Given the description of an element on the screen output the (x, y) to click on. 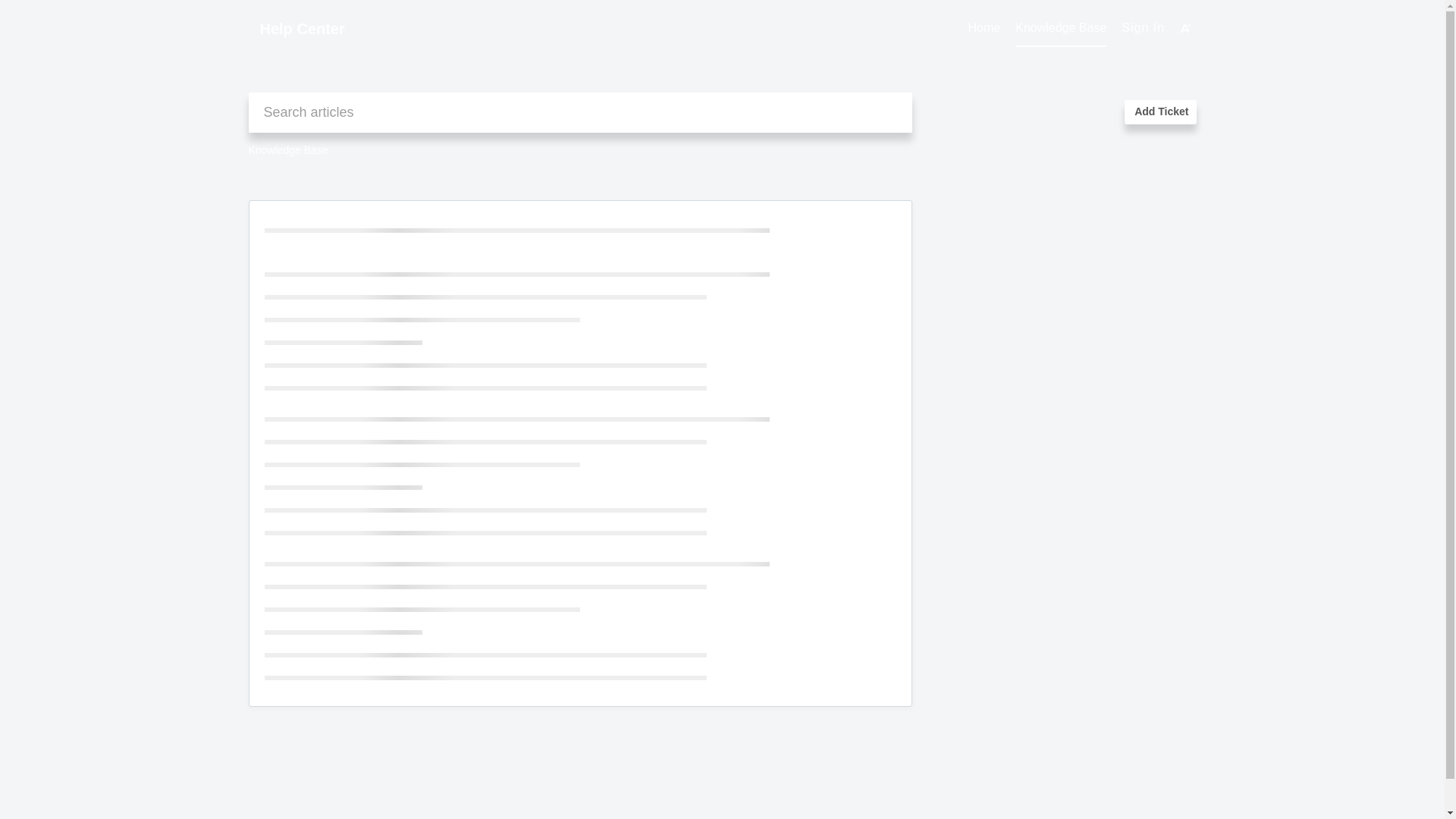
Home (984, 27)
Knowledge Base (1060, 27)
Home (984, 27)
Knowledge Base (288, 150)
Knowledge Base (1060, 27)
Add Ticket (1159, 111)
Sign In (1142, 27)
